Given the description of an element on the screen output the (x, y) to click on. 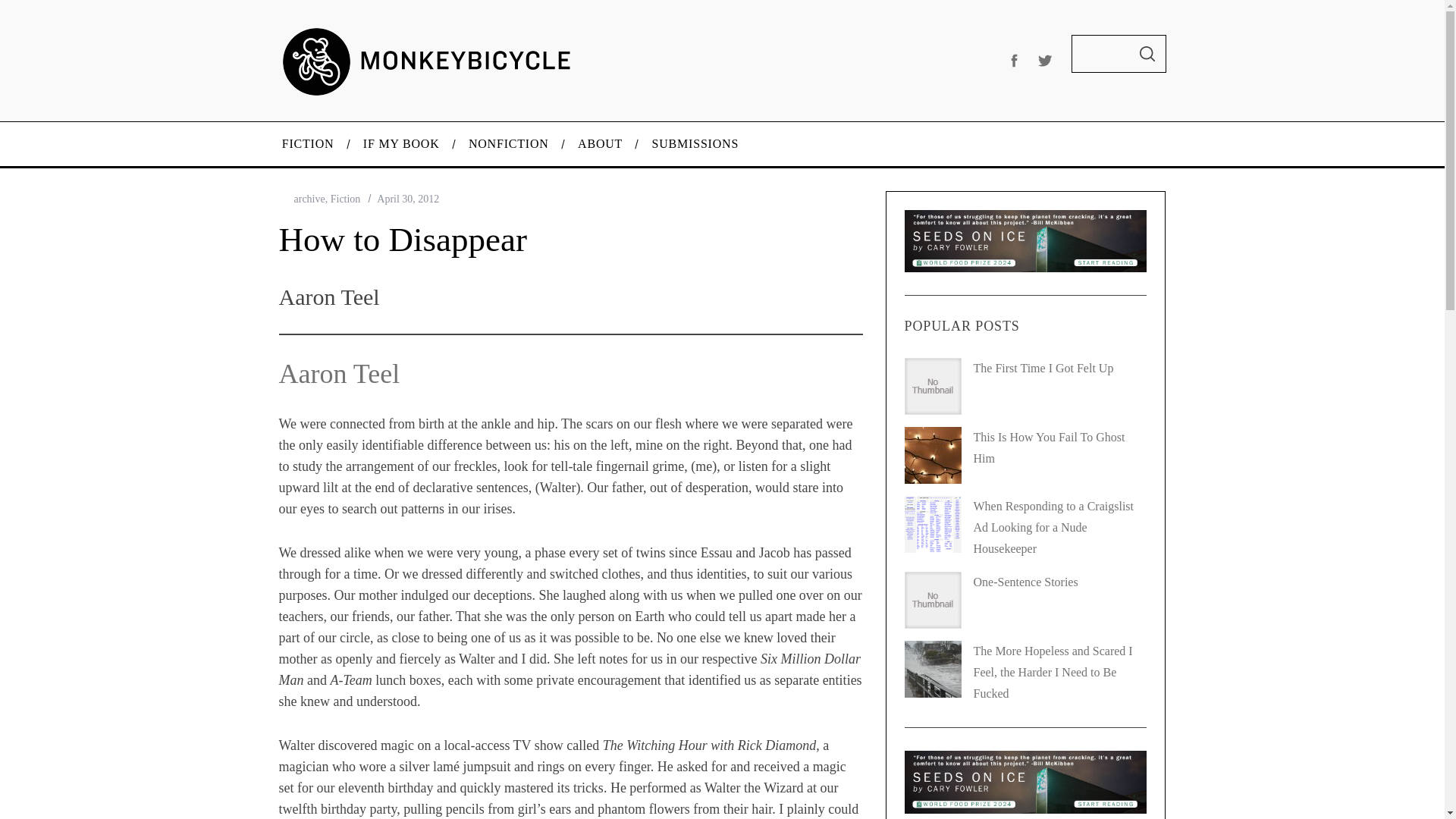
SUBMISSIONS (694, 144)
Aaron Teel (339, 373)
IF MY BOOK (401, 144)
FICTION (306, 144)
ABOUT (600, 144)
Fiction (345, 198)
archive (309, 198)
NONFICTION (508, 144)
The First Time I Got Felt Up (1043, 367)
SEARCH (1147, 53)
